Given the description of an element on the screen output the (x, y) to click on. 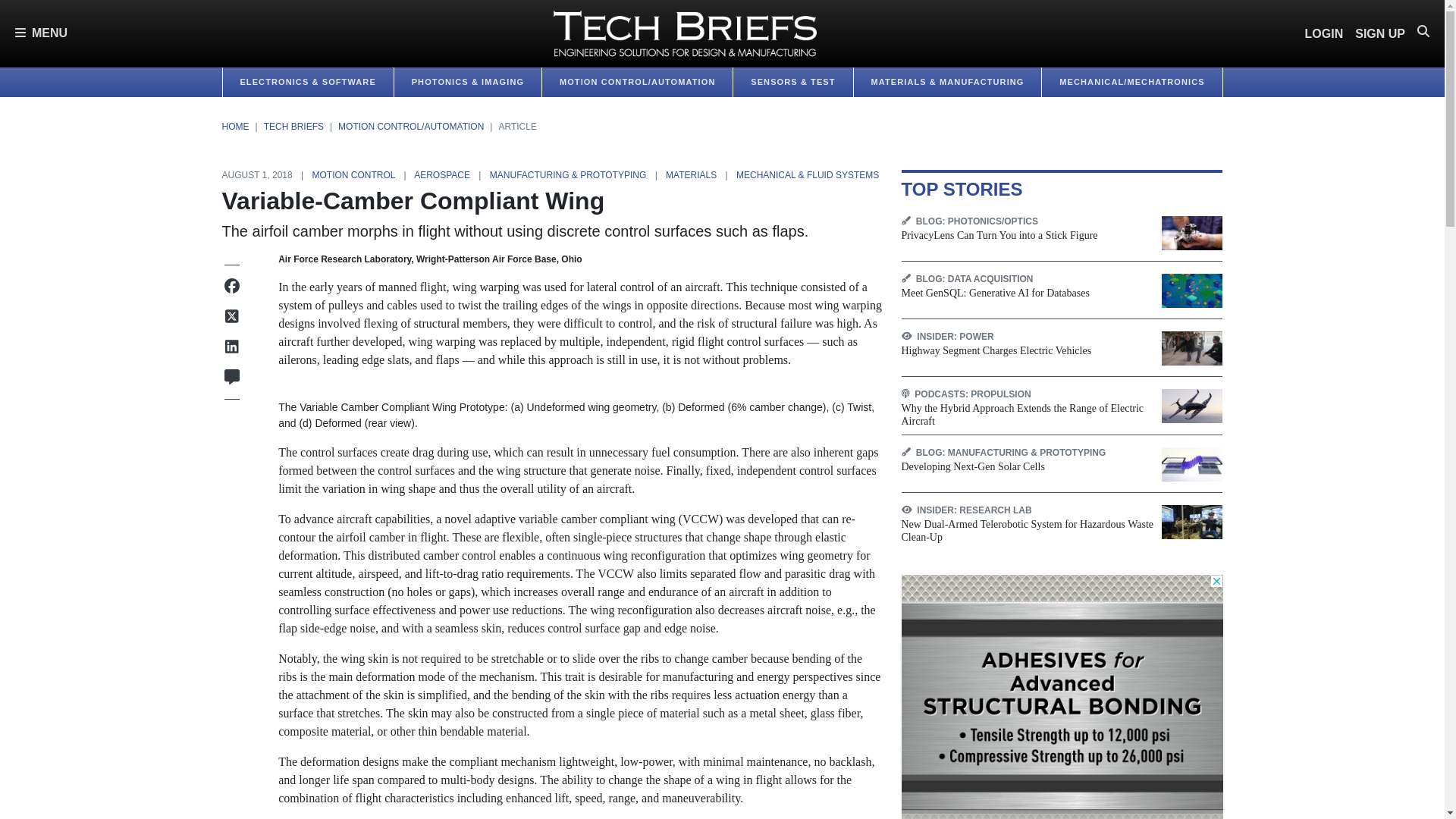
3rd party ad content (1062, 696)
LOGIN (1323, 32)
MENU (41, 33)
SIGN UP (1379, 32)
